Given the description of an element on the screen output the (x, y) to click on. 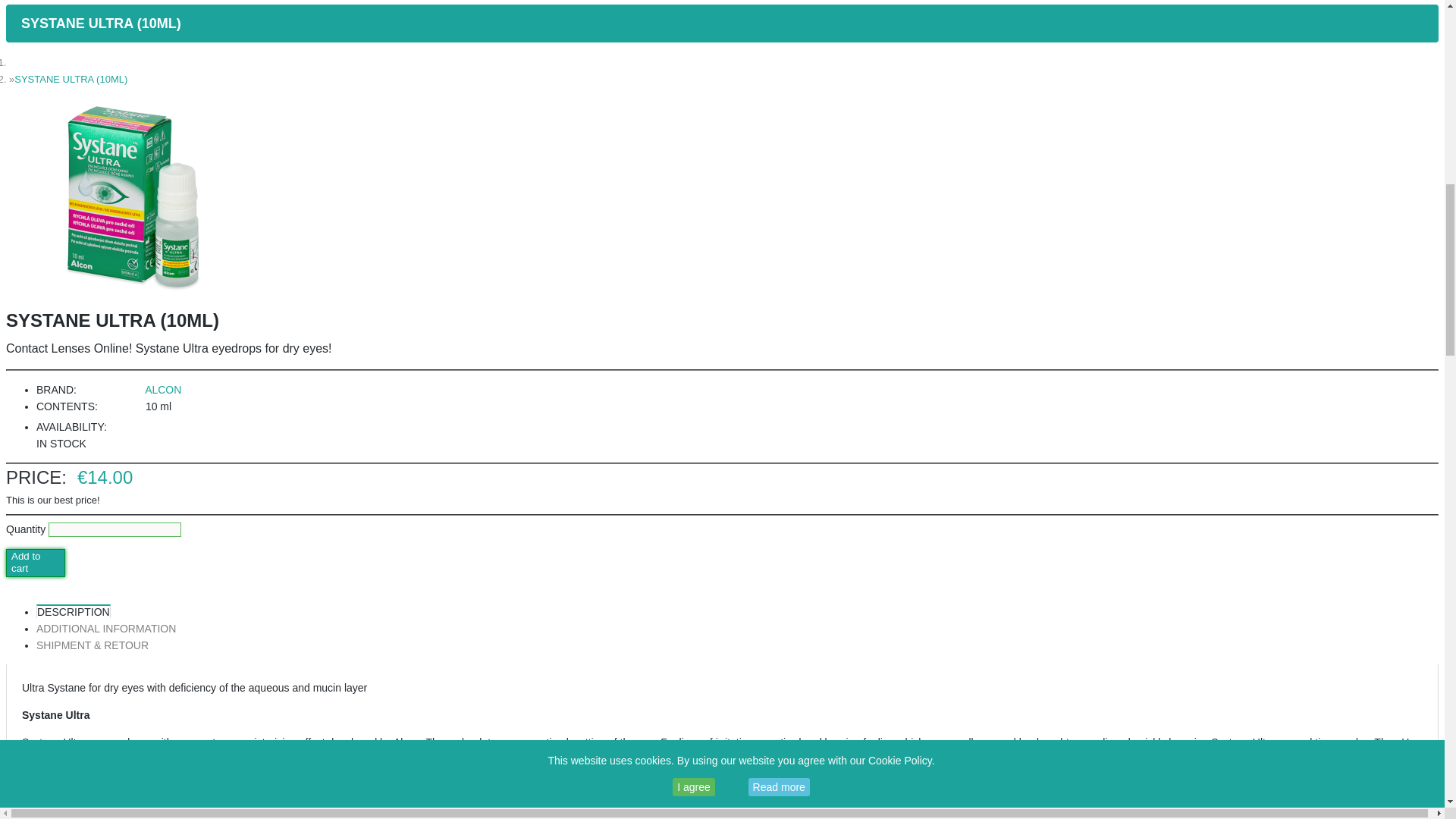
Add to cart (35, 562)
ALCON (162, 389)
